Given the description of an element on the screen output the (x, y) to click on. 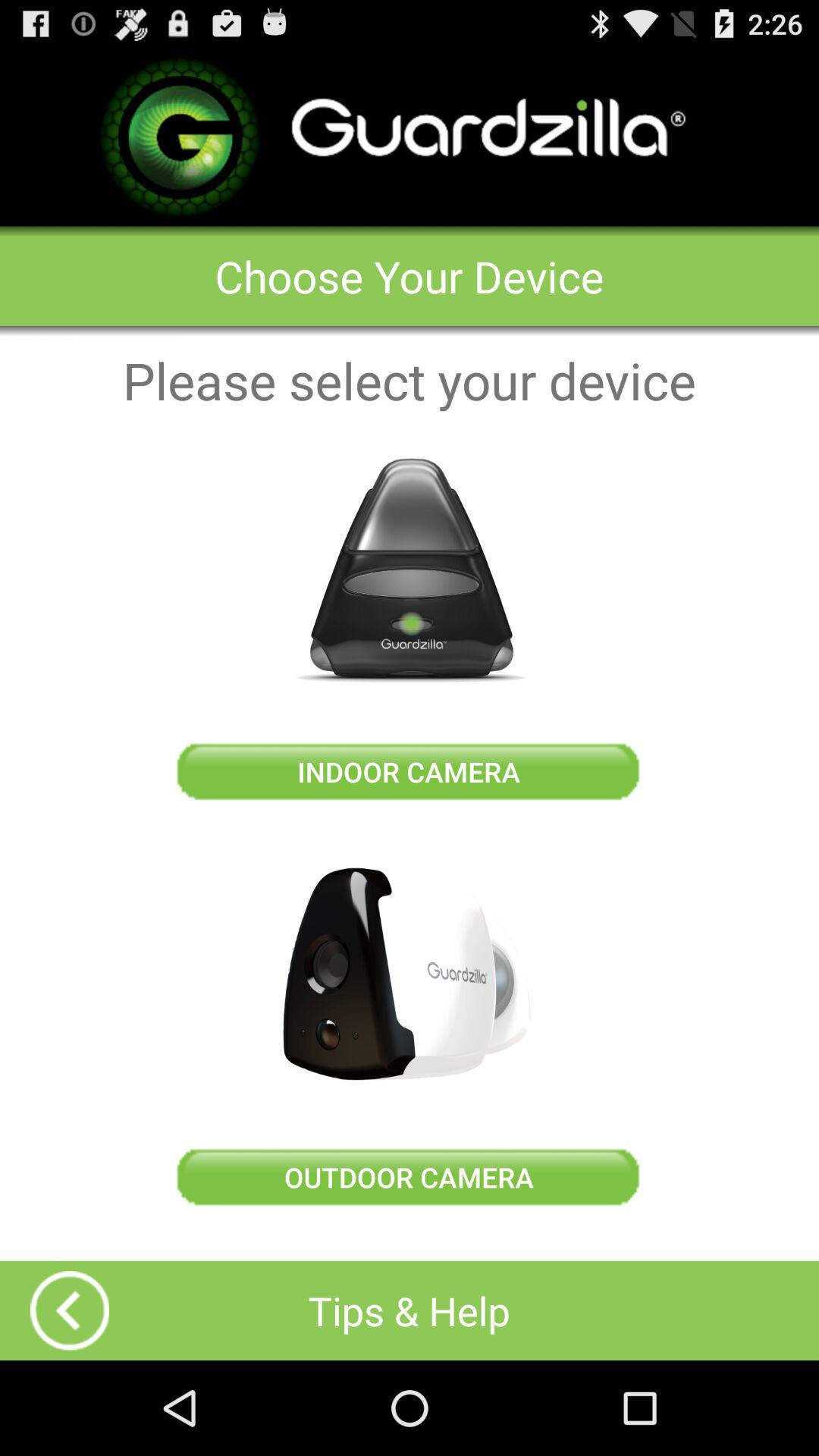
go back to previous page (69, 1310)
